Given the description of an element on the screen output the (x, y) to click on. 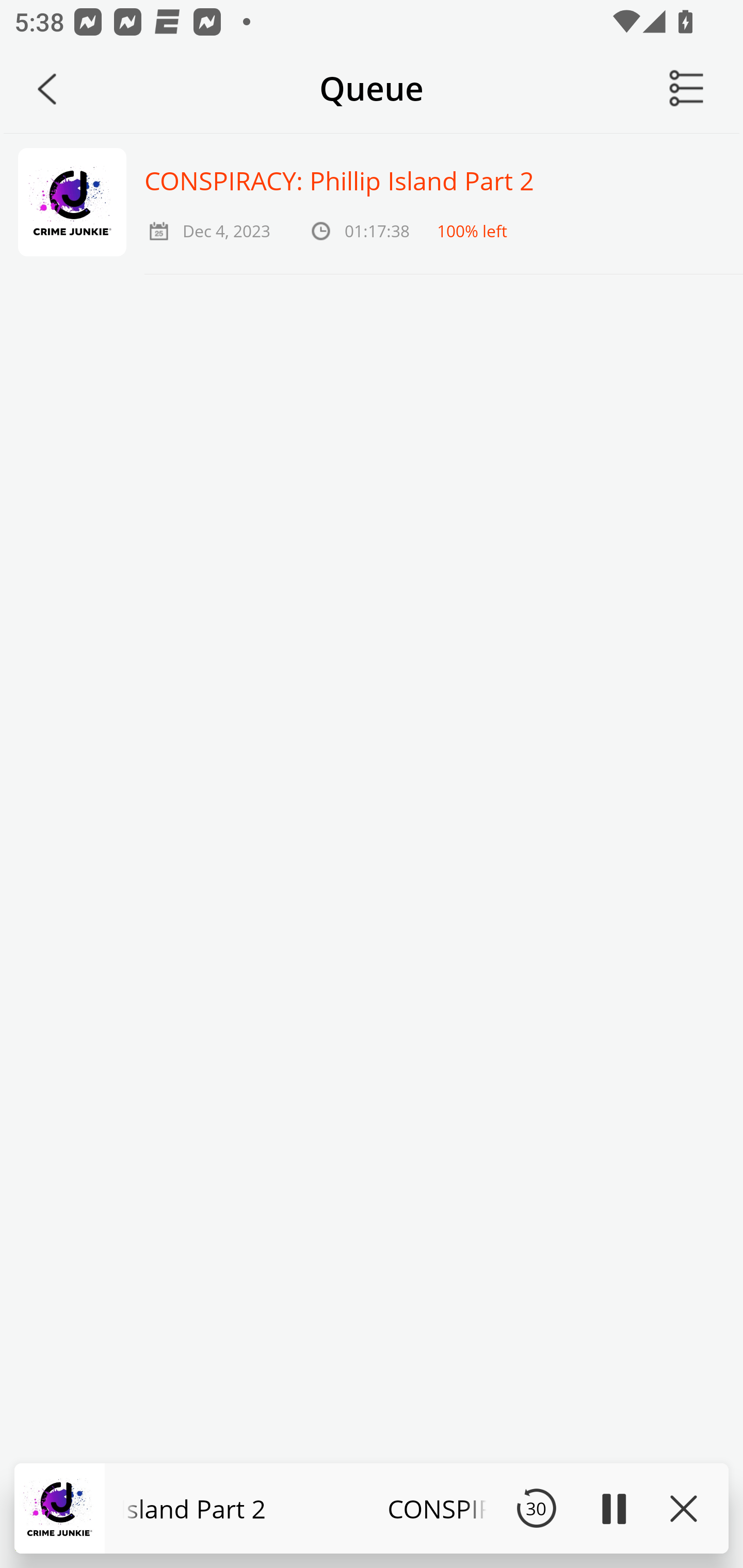
Back (46, 88)
Play (613, 1507)
30 Seek Backward (536, 1508)
